Given the description of an element on the screen output the (x, y) to click on. 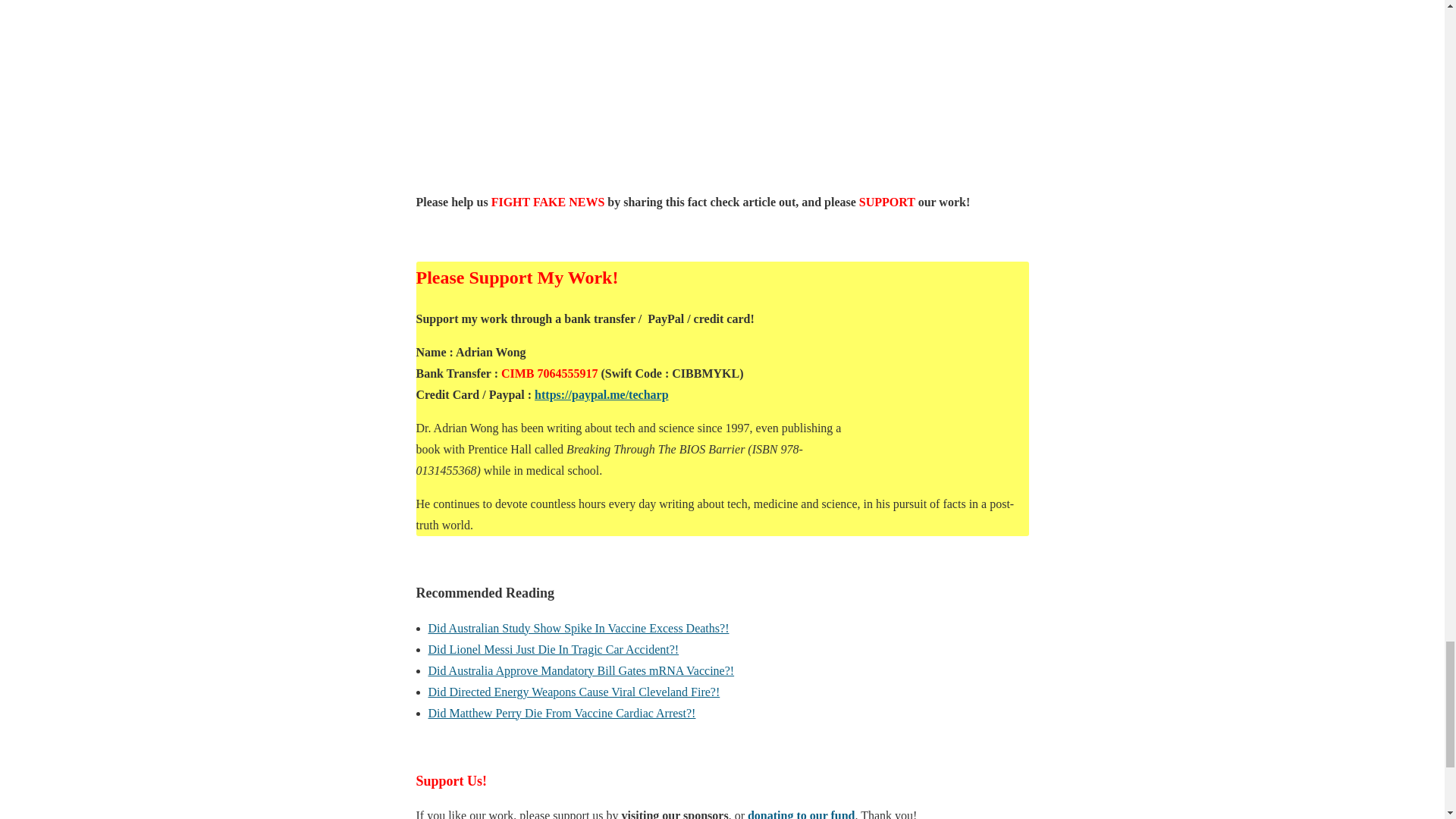
Did Australian Study Show Spike In Vaccine Excess Deaths?! (578, 627)
Did Australia Approve Mandatory Bill Gates mRNA Vaccine?! (580, 670)
Did Lionel Messi Just Die In Tragic Car Accident?! (553, 649)
Did Matthew Perry Die From Vaccine Cardiac Arrest?! (561, 712)
donating to our fund (802, 814)
Did Directed Energy Weapons Cause Viral Cleveland Fire?! (573, 691)
